Given the description of an element on the screen output the (x, y) to click on. 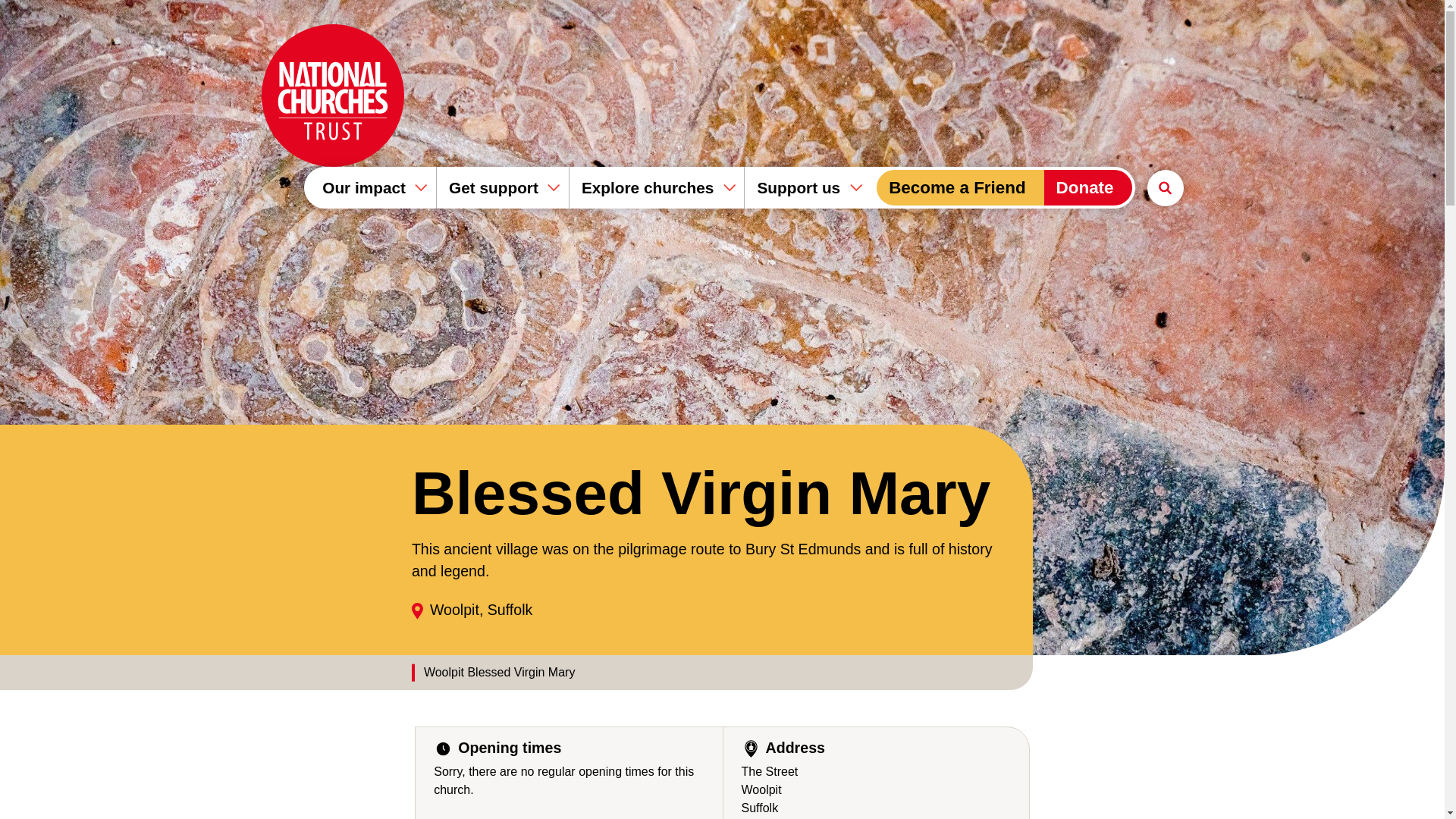
Explore churches (656, 187)
National Churches Trust (331, 95)
Our impact (369, 187)
Get support (502, 187)
